Given the description of an element on the screen output the (x, y) to click on. 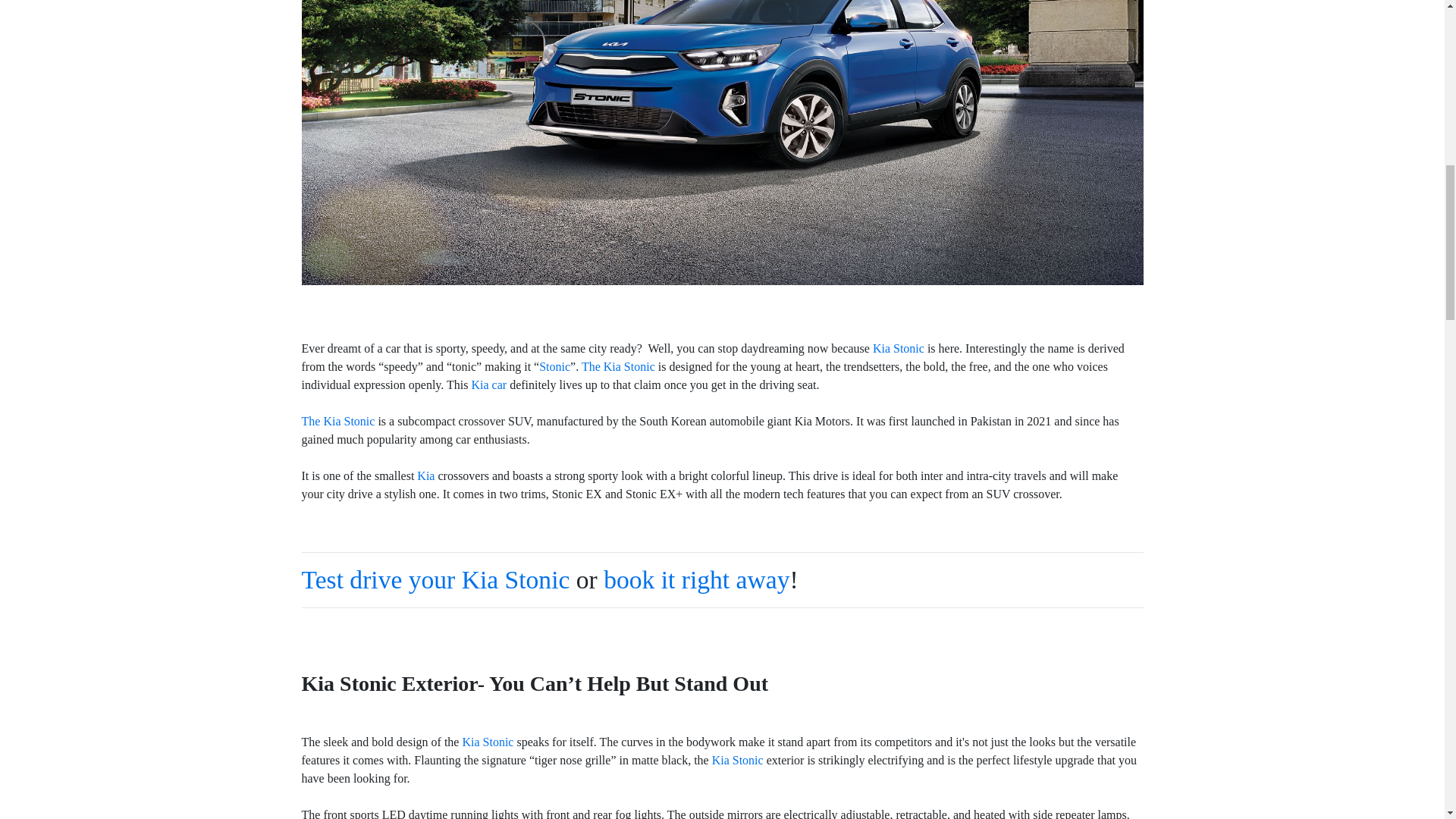
Stonic (554, 366)
Kia Stonic (898, 348)
Kia (424, 475)
book it right away (696, 579)
Test drive your Kia Stonic (435, 579)
The Kia Stonic (619, 366)
The Kia Stonic (339, 420)
Kia car (488, 384)
Kia Stonic (487, 741)
Kia Stonic (736, 759)
